Given the description of an element on the screen output the (x, y) to click on. 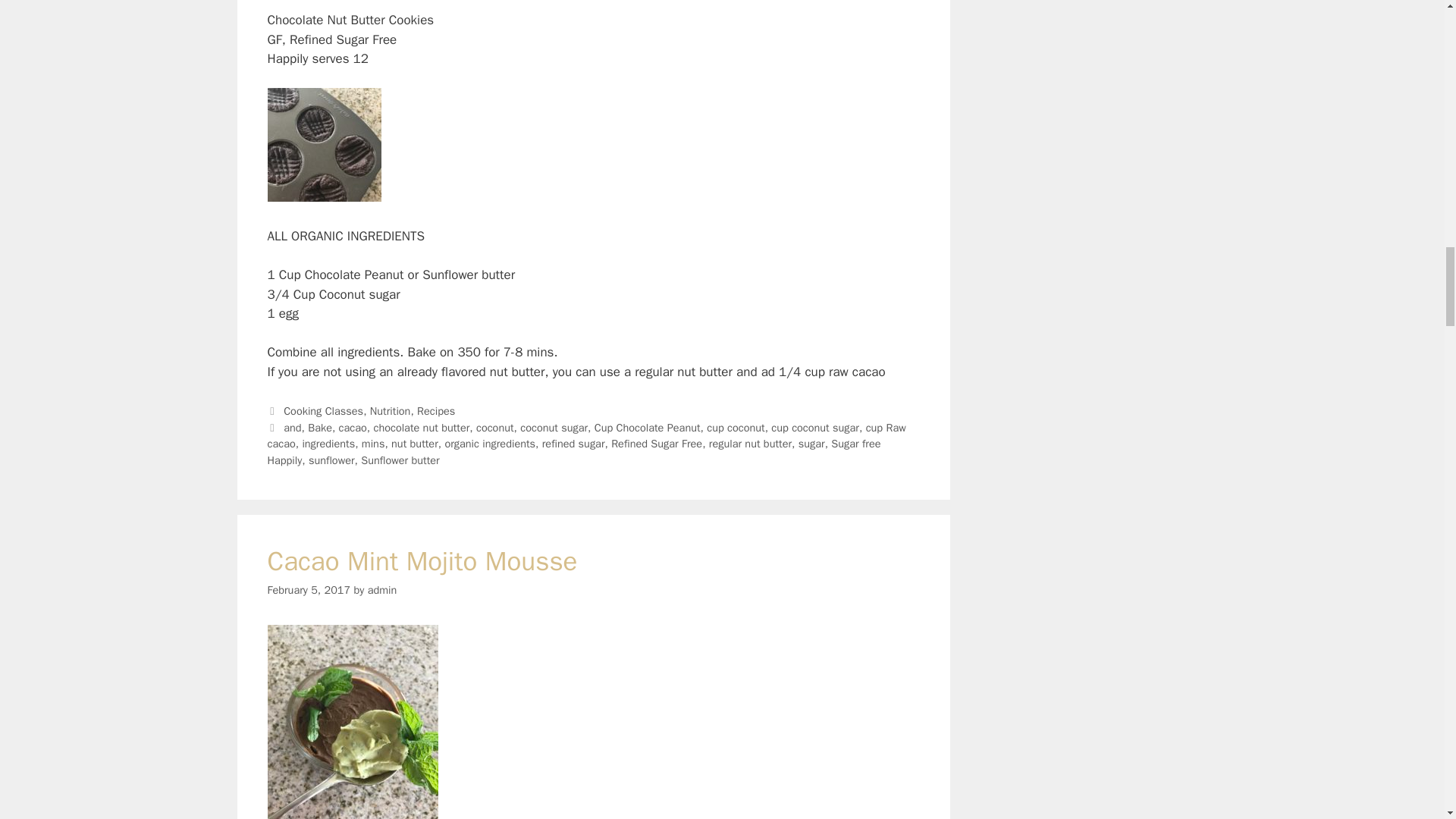
View all posts by admin (382, 590)
